Given the description of an element on the screen output the (x, y) to click on. 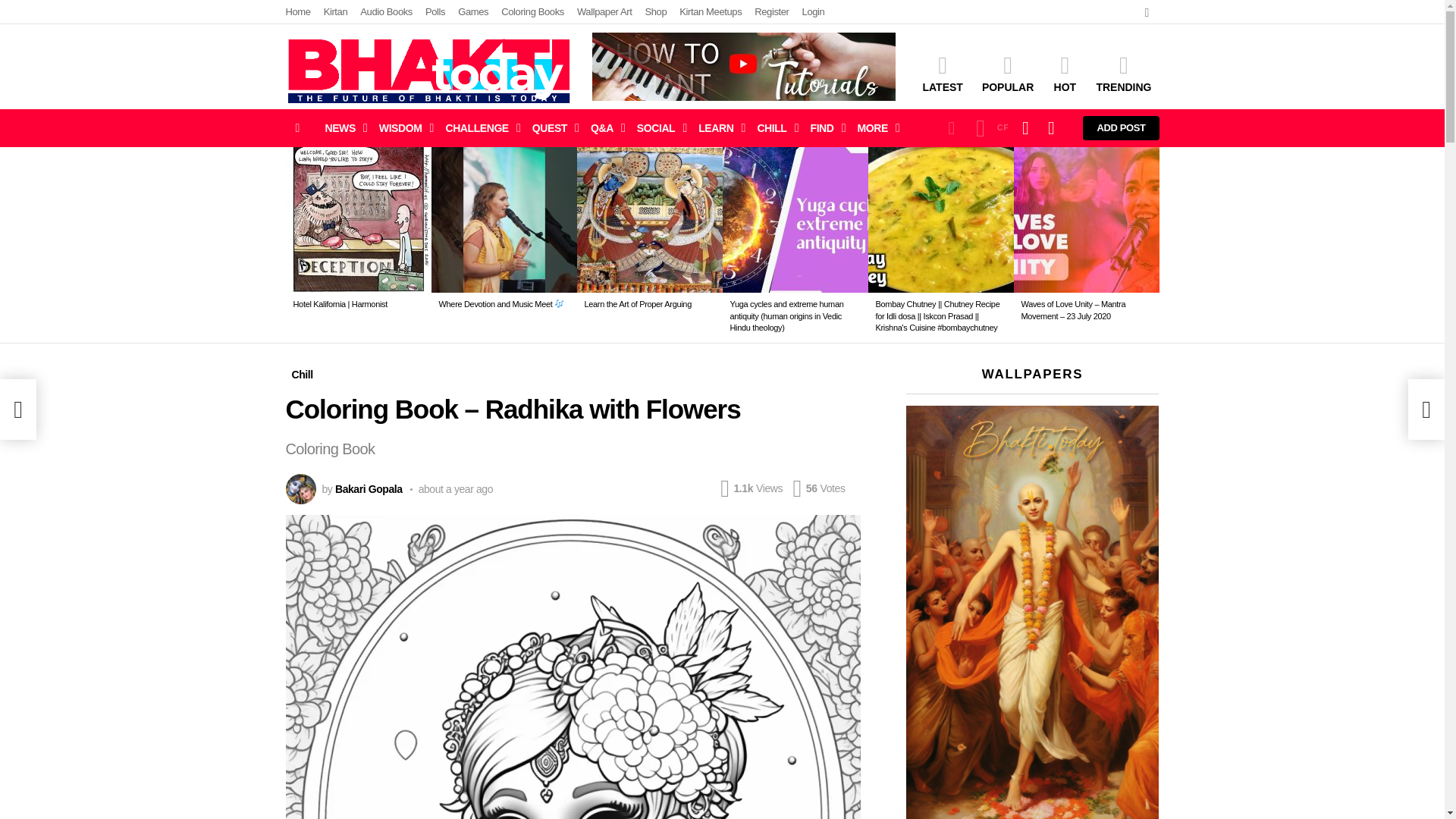
NEWS (341, 128)
TRENDING (1122, 73)
Wallpaper Art (603, 12)
Coloring Books (532, 12)
Games (472, 12)
Toggle CF (988, 127)
Kirtan (335, 12)
facebook (1146, 12)
Kirtan Meetups (710, 12)
Login (813, 12)
Home (297, 12)
LATEST (941, 73)
WISDOM (402, 128)
Shop (655, 12)
CHALLENGE (478, 128)
